Given the description of an element on the screen output the (x, y) to click on. 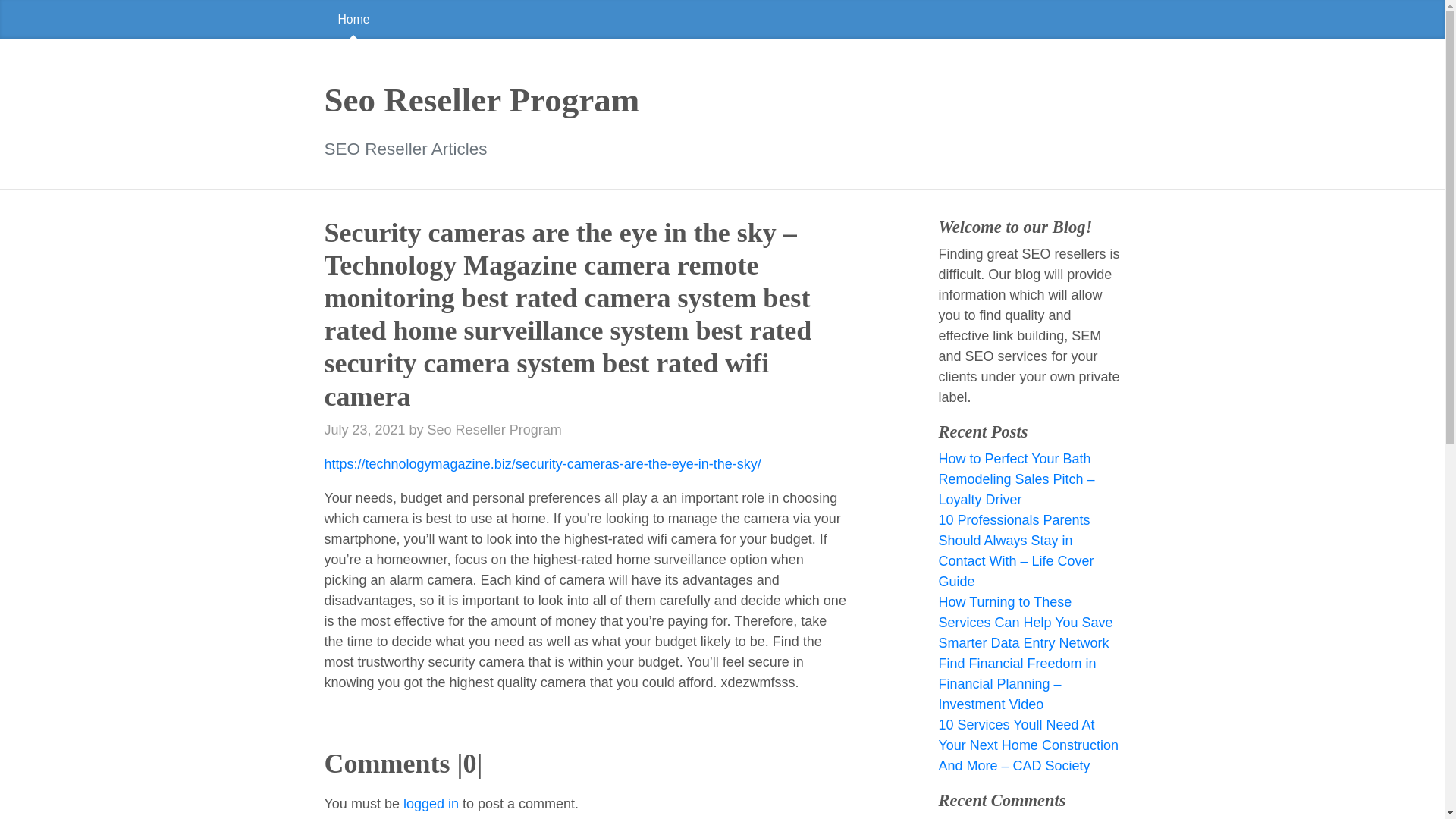
logged in (430, 803)
Home (354, 19)
Home (722, 19)
